Given the description of an element on the screen output the (x, y) to click on. 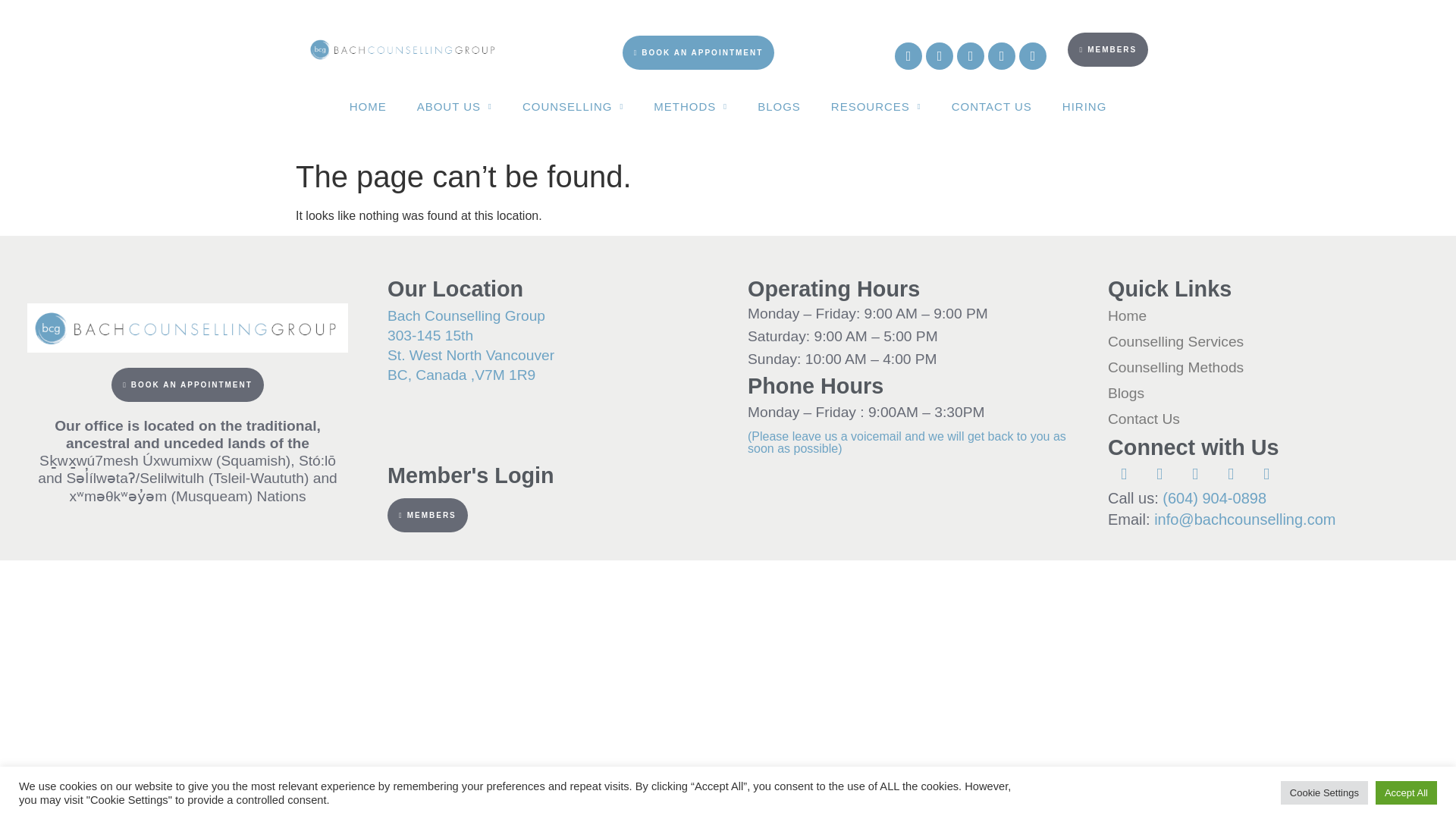
HOME (367, 106)
BOOK AN APPOINTMENT (698, 16)
BLOGS (778, 106)
COUNSELLING (572, 106)
ABOUT US (453, 106)
MEMBERS (1107, 28)
CONTACT US (991, 106)
METHODS (690, 106)
RESOURCES (875, 106)
HIRING (1084, 106)
